Given the description of an element on the screen output the (x, y) to click on. 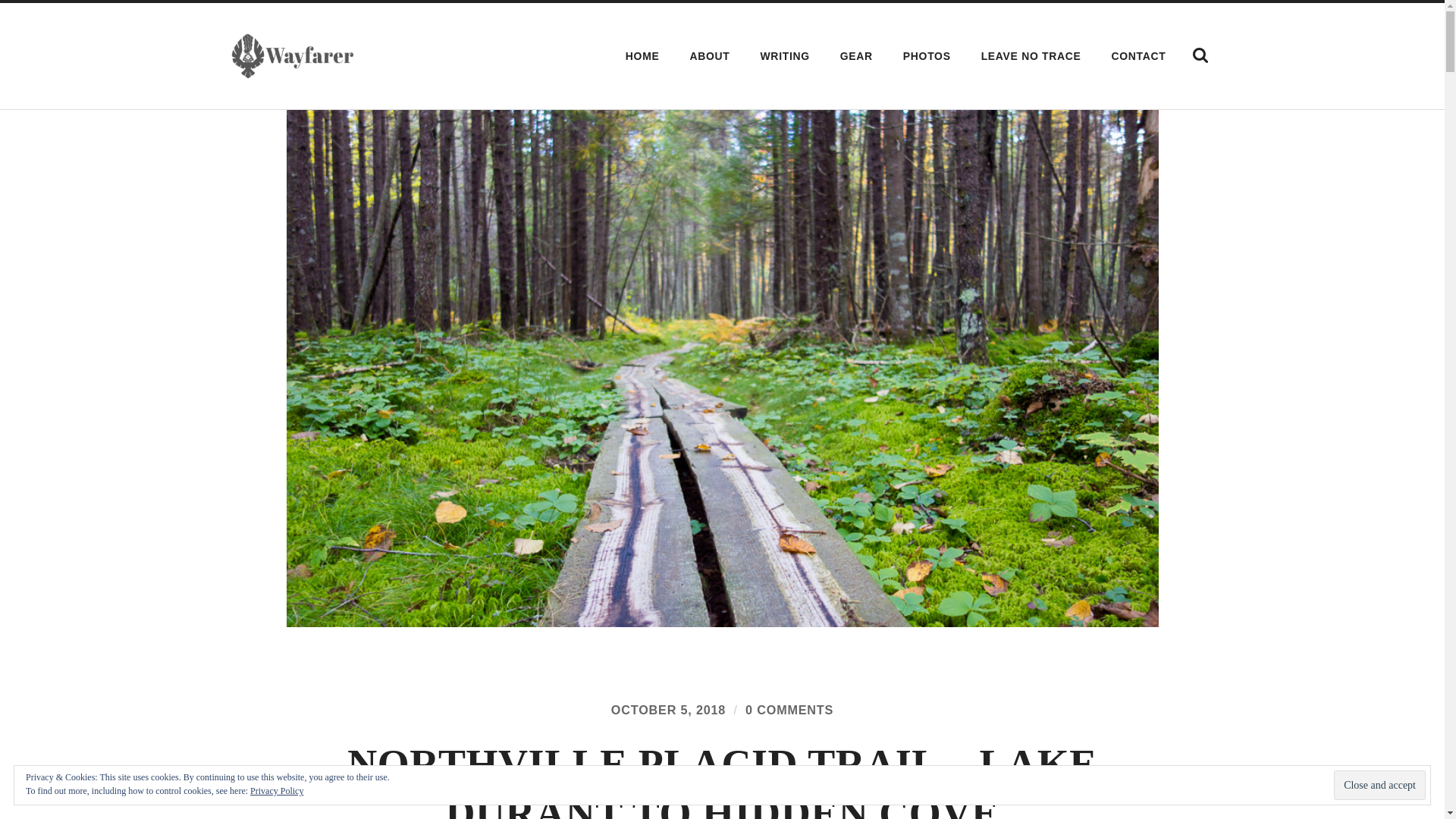
HOME (642, 56)
GEAR (855, 56)
OCTOBER 5, 2018 (668, 709)
0 COMMENTS (788, 709)
Wayfarer (291, 55)
LEAVE NO TRACE (1031, 56)
WRITING (785, 56)
PHOTOS (926, 56)
CONTACT (1138, 56)
SHOW THE SEARCH FIELD (1199, 55)
ABOUT (709, 56)
Close and accept (1379, 785)
